Given the description of an element on the screen output the (x, y) to click on. 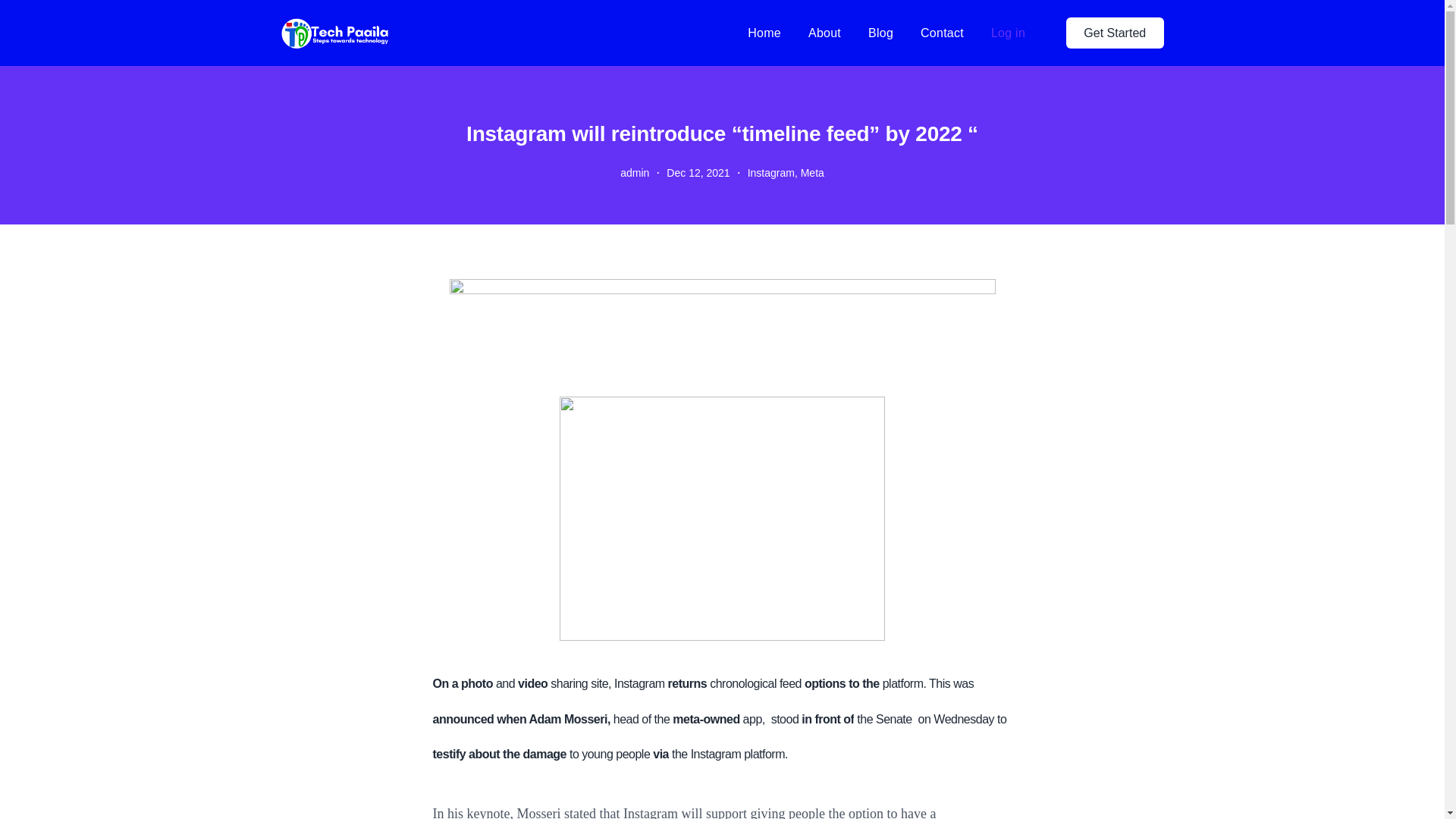
Blog (880, 33)
About (824, 33)
Home (764, 33)
Get Started (1114, 32)
Log in (1008, 32)
Instagram (771, 173)
Contact (941, 33)
Meta (812, 173)
